Given the description of an element on the screen output the (x, y) to click on. 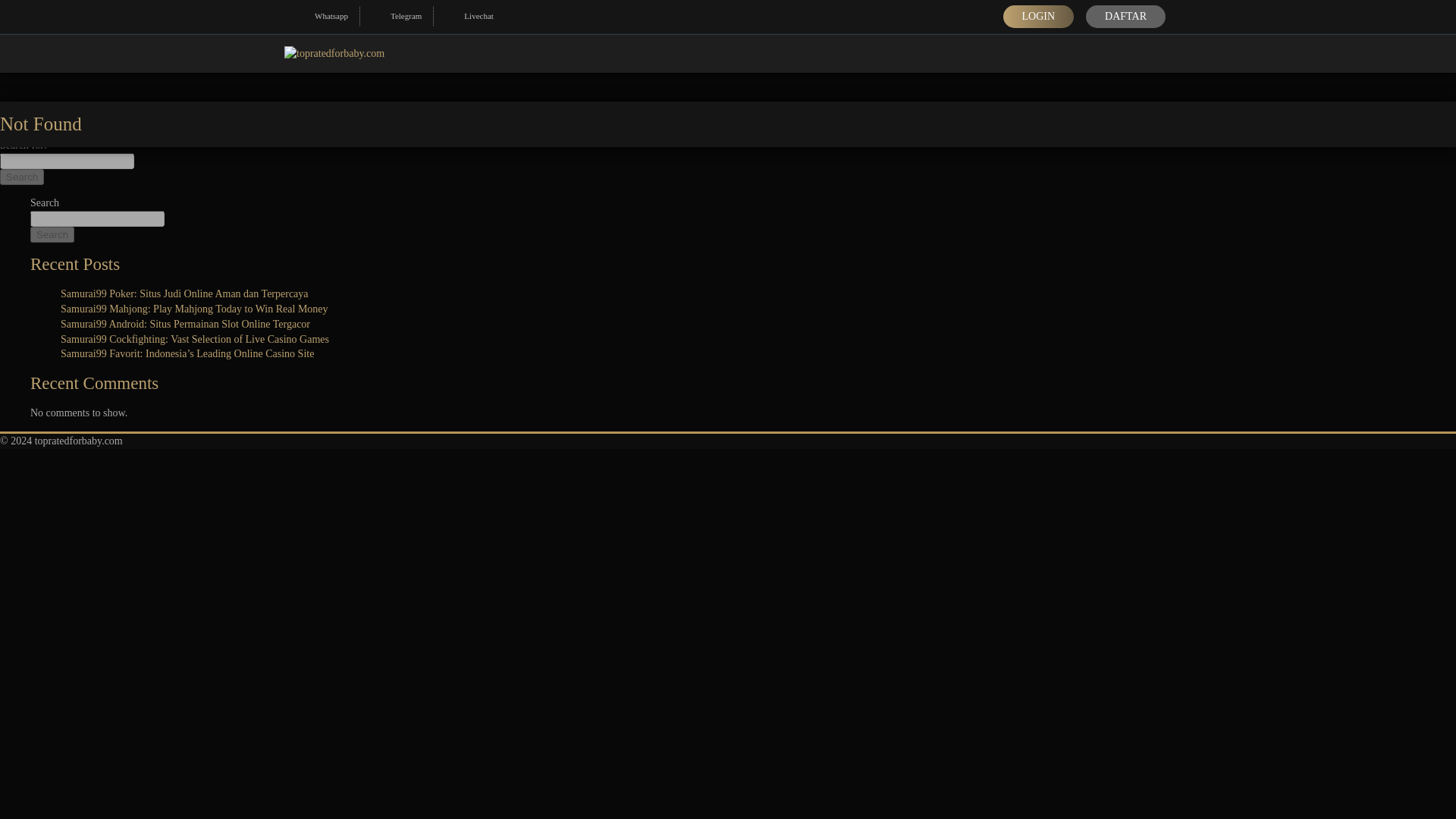
Samurai99 Poker: Situs Judi Online Aman dan Terpercaya (184, 293)
Samurai99 Android: Situs Permainan Slot Online Tergacor (185, 324)
DAFTAR (1126, 15)
LOGIN (1038, 15)
Telegram (395, 15)
Samurai99 Cockfighting: Vast Selection of Live Casino Games (195, 338)
Search (52, 234)
Samurai99 Mahjong: Play Mahjong Today to Win Real Money (195, 308)
Search (21, 176)
Livechat (468, 15)
